Given the description of an element on the screen output the (x, y) to click on. 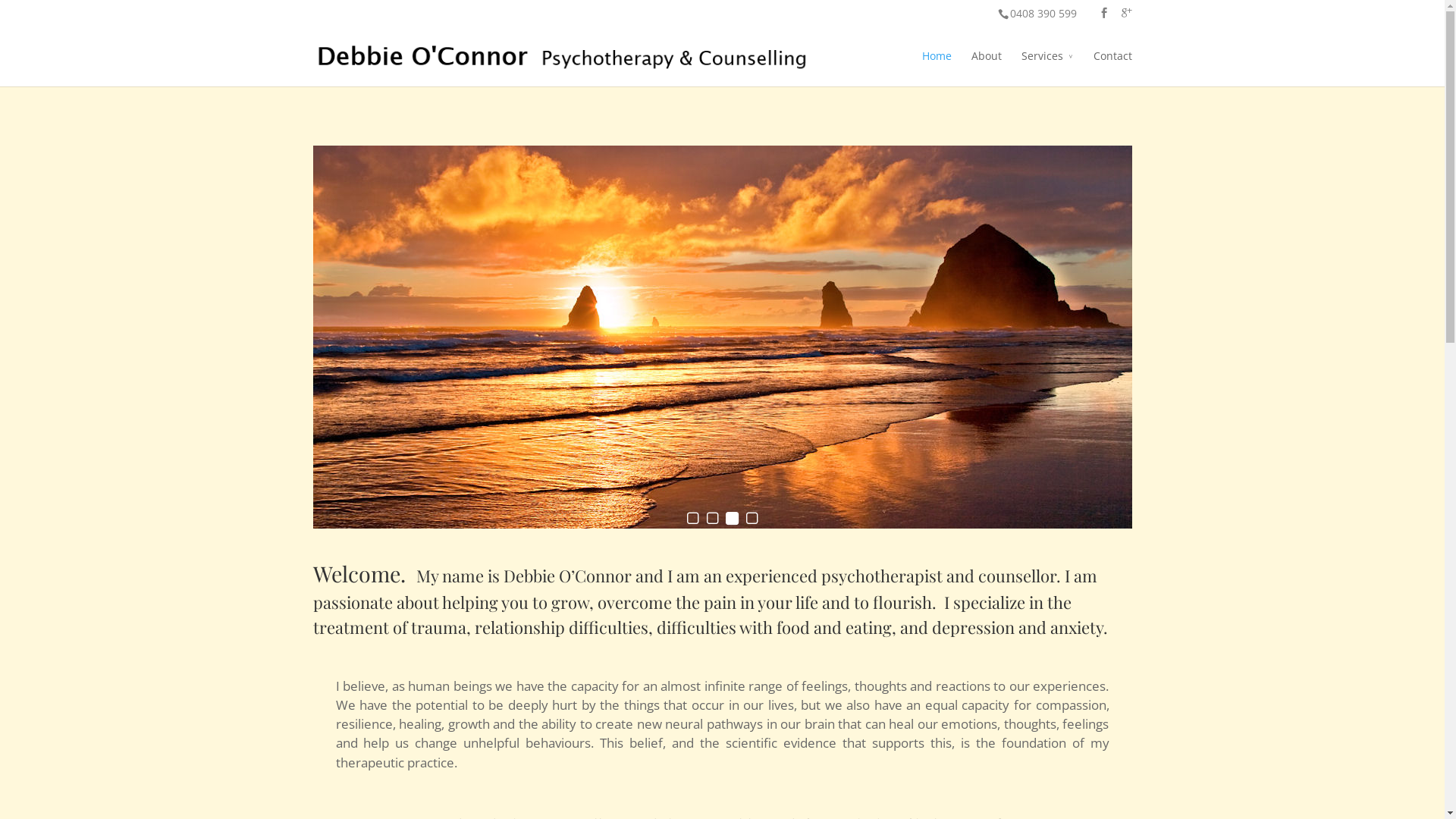
Services Element type: text (1046, 66)
Contact Element type: text (1112, 66)
About Element type: text (985, 66)
Home Element type: text (936, 66)
